Given the description of an element on the screen output the (x, y) to click on. 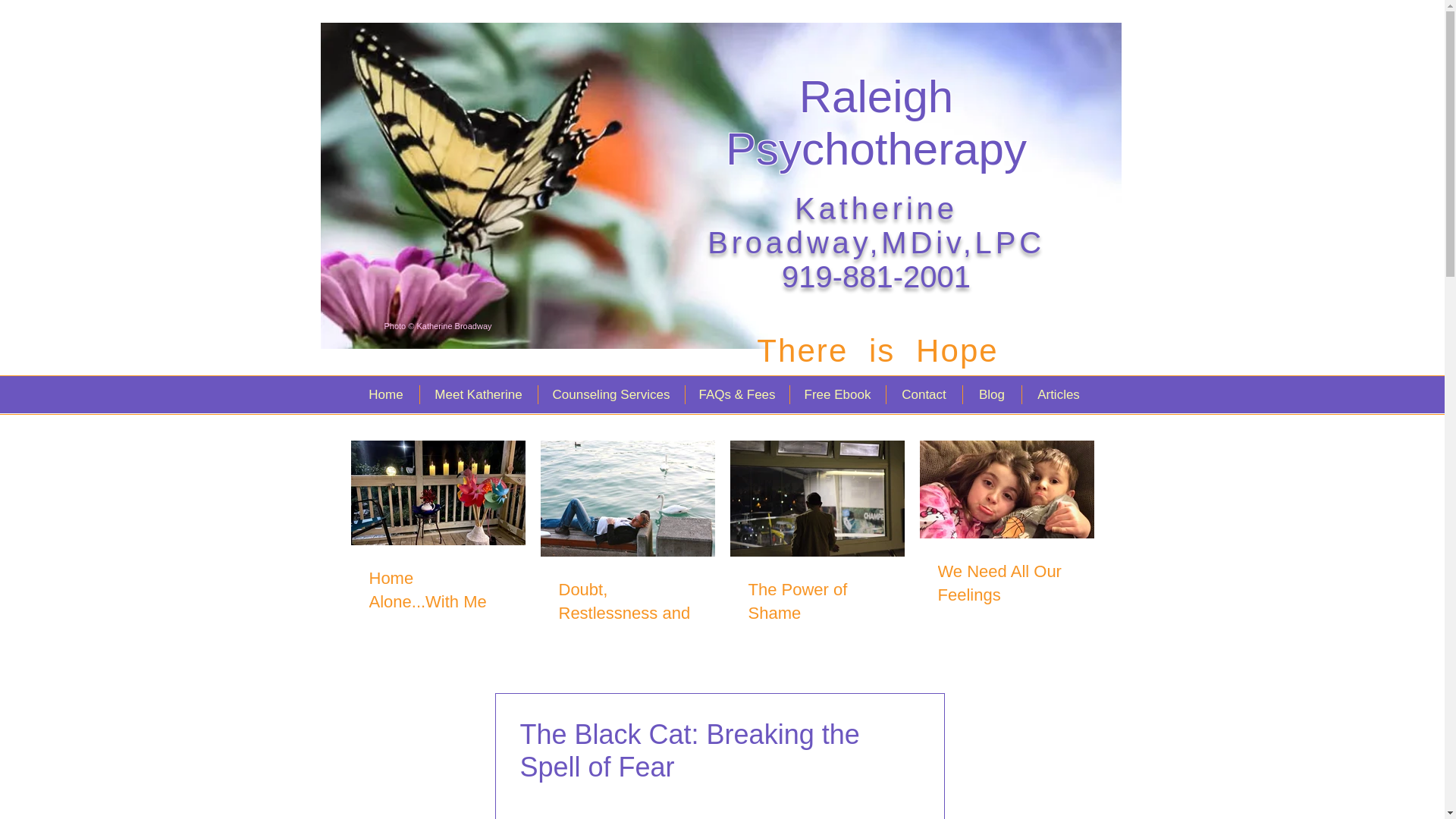
We Need All Our Feelings (1006, 583)
Home (386, 394)
Home Alone...With Me (437, 590)
Contact (923, 394)
Counseling Services (610, 394)
The Power of Shame (816, 601)
Blog (990, 394)
Meet Katherine (478, 394)
Free Ebook (837, 394)
Doubt, Restlessness and Boredom (626, 613)
Articles (1057, 394)
